Given the description of an element on the screen output the (x, y) to click on. 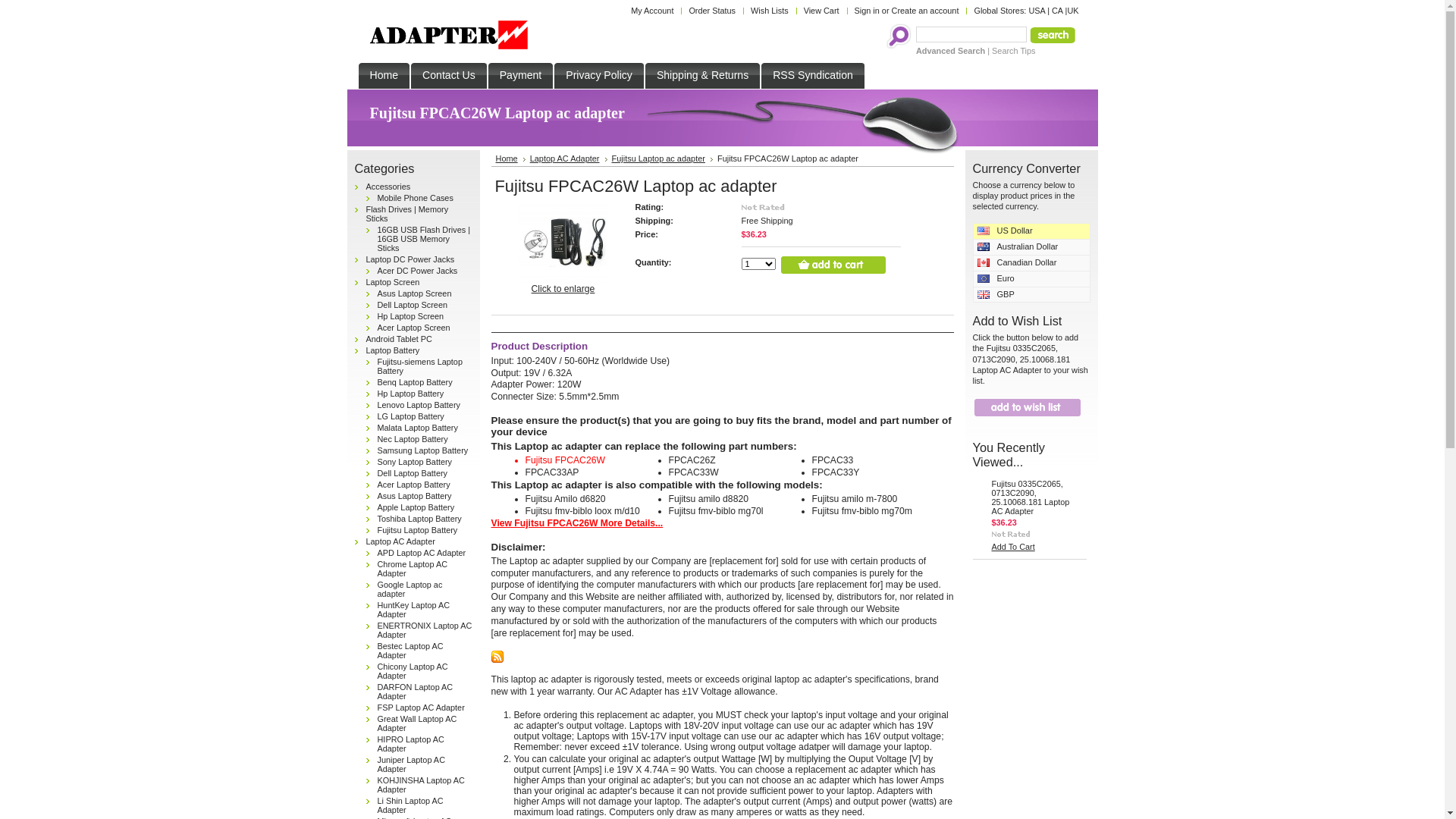
16GB USB Flash Drives | 16GB USB Memory Sticks Element type: text (423, 238)
Lenovo Laptop Battery Element type: text (418, 404)
Payment Element type: text (520, 75)
Sign in Element type: text (866, 10)
APD Laptop AC Adapter Element type: text (421, 552)
Euro Element type: text (1031, 278)
Add To Cart Element type: text (1013, 546)
Juniper Laptop AC Adapter Element type: text (411, 764)
USA Element type: text (1036, 10)
Canadian Dollar Element type: text (1031, 262)
Laptop DC Power Jacks Element type: text (409, 258)
Click to enlarge Element type: text (563, 288)
Sony Laptop Battery Element type: text (414, 461)
603 Element type: text (4, 4)
Acer Laptop Screen Element type: text (413, 327)
Samsung Laptop Battery Element type: text (422, 450)
Laptop AC Adapter Element type: text (568, 158)
Benq Laptop Battery Element type: text (414, 381)
HIPRO Laptop AC Adapter Element type: text (410, 743)
Malata Laptop Battery Element type: text (417, 427)
Acer Laptop Battery Element type: text (413, 484)
Fujitsu Laptop ac adapter Element type: text (661, 158)
Create an account Element type: text (925, 10)
FSP Laptop AC Adapter Element type: text (420, 707)
UK Element type: text (1072, 10)
RSS Syndication Element type: text (812, 75)
Contact Us Element type: text (448, 75)
Dell Laptop Screen Element type: text (412, 304)
Chicony Laptop AC Adapter Element type: text (412, 671)
DARFON Laptop AC Adapter Element type: text (415, 691)
Privacy Policy Element type: text (598, 75)
Android Tablet PC Element type: text (398, 338)
Laptop Screen Element type: text (392, 281)
View Cart Element type: text (817, 10)
My Account Element type: text (648, 10)
Accessories Element type: text (387, 186)
Mobile Phone Cases Element type: text (415, 197)
Bestec Laptop AC Adapter Element type: text (410, 650)
Fujitsu-siemens Laptop Battery Element type: text (419, 366)
Acer DC Power Jacks Element type: text (417, 270)
Great Wall Laptop AC Adapter Element type: text (417, 723)
Order Status Element type: text (707, 10)
Laptop AC Adapter Element type: text (399, 541)
CA Element type: text (1057, 10)
Chrome Laptop AC Adapter Element type: text (412, 568)
Asus Laptop Screen Element type: text (414, 293)
Home Element type: text (383, 75)
Hp Laptop Screen Element type: text (410, 315)
HuntKey Laptop AC Adapter Element type: text (413, 609)
US Dollar Element type: text (1031, 230)
Apple Laptop Battery Element type: text (416, 506)
ENERTRONIX Laptop AC Adapter Element type: text (424, 630)
Hp Laptop Battery Element type: text (410, 393)
Flash Drives | Memory Sticks Element type: text (406, 213)
View Fujitsu FPCAC26W More Details... Element type: text (577, 522)
Li Shin Laptop AC Adapter Element type: text (410, 805)
Advanced Search Element type: text (950, 50)
Australian Dollar Element type: text (1031, 246)
Laptop Battery Element type: text (392, 349)
Wish Lists Element type: text (765, 10)
Nec Laptop Battery Element type: text (412, 438)
Google Laptop ac adapter Element type: text (409, 589)
Asus Laptop Battery Element type: text (414, 495)
Search Tips Element type: text (1013, 50)
Shipping & Returns Element type: text (702, 75)
Toshiba Laptop Battery Element type: text (419, 518)
KOHJINSHA Laptop AC Adapter Element type: text (420, 784)
Fujitsu Laptop Battery Element type: text (417, 529)
GBP Element type: text (1031, 294)
Home Element type: text (510, 158)
LG Laptop Battery Element type: text (410, 415)
Fujitsu 0335C2065, 0713C2090, 25.10068.181 Laptop AC Adapter Element type: text (1030, 497)
Dell Laptop Battery Element type: text (412, 472)
